Given the description of an element on the screen output the (x, y) to click on. 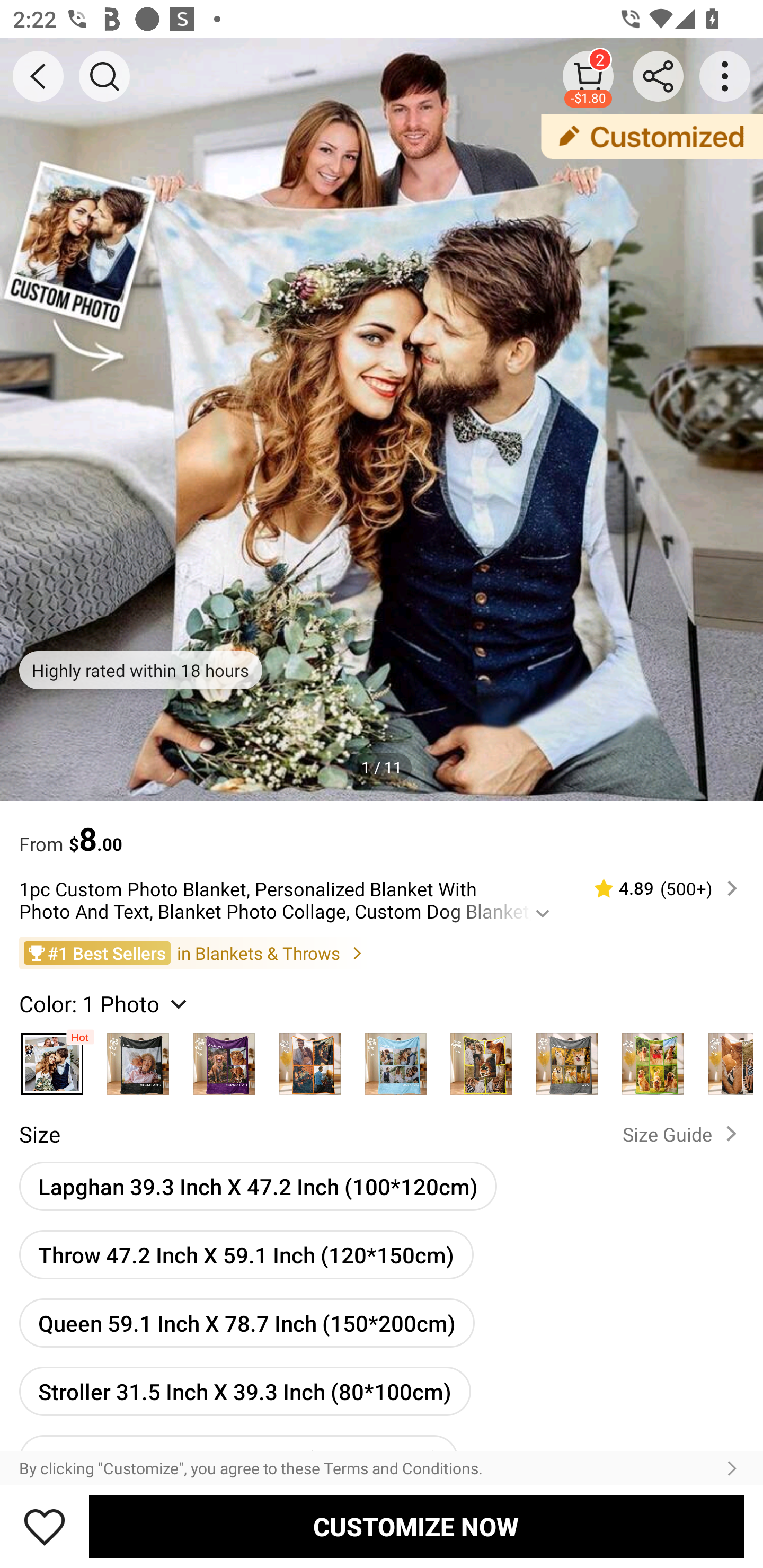
PHOTOS Highly rated within 18 hours 1 / 11 (381, 419)
BACK (38, 75)
2 -$1.80 (588, 75)
1 / 11 (381, 766)
From  $8.00 (381, 830)
4.89 (500‎+) (658, 887)
#1 Best Sellers in Blankets & Throws (381, 952)
Color: 1 Photo (105, 1003)
1 Photo (52, 1059)
1 Photo + Text (138, 1059)
3 Photos + Text (224, 1059)
4 Photos (309, 1059)
4 Photos + Text (395, 1059)
5 Photos (481, 1059)
5 Photos + Text (567, 1059)
6 Photos (652, 1059)
6 Photos - 2 (724, 1059)
Size (39, 1134)
Size Guide (682, 1133)
CUSTOMIZE NOW (416, 1526)
Save (44, 1526)
